Given the description of an element on the screen output the (x, y) to click on. 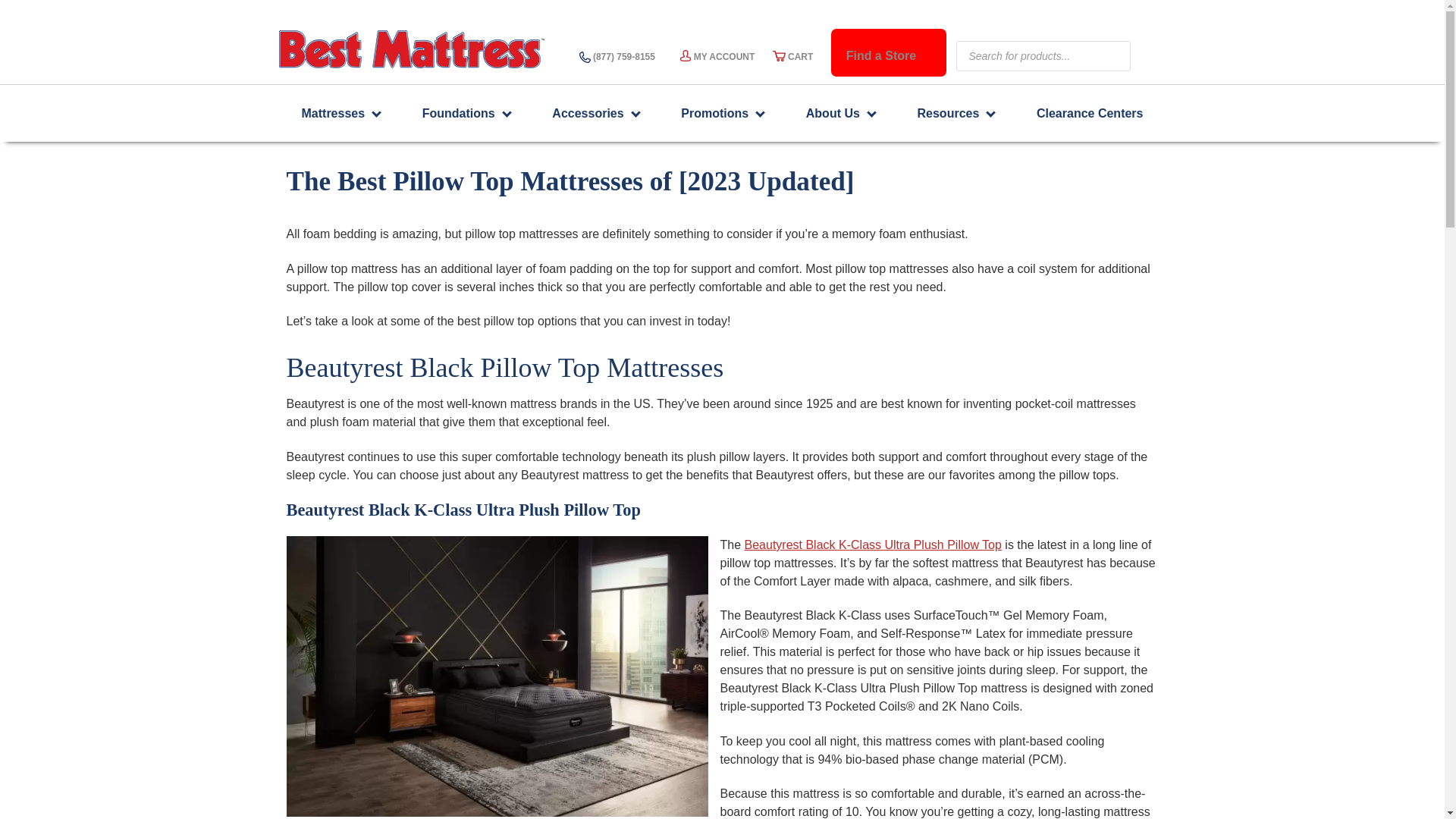
MY ACCOUNT (716, 56)
Promotions (713, 113)
CART (793, 56)
Accessories (588, 113)
Foundations (459, 113)
Mattresses (333, 113)
Find a Store (881, 55)
